Given the description of an element on the screen output the (x, y) to click on. 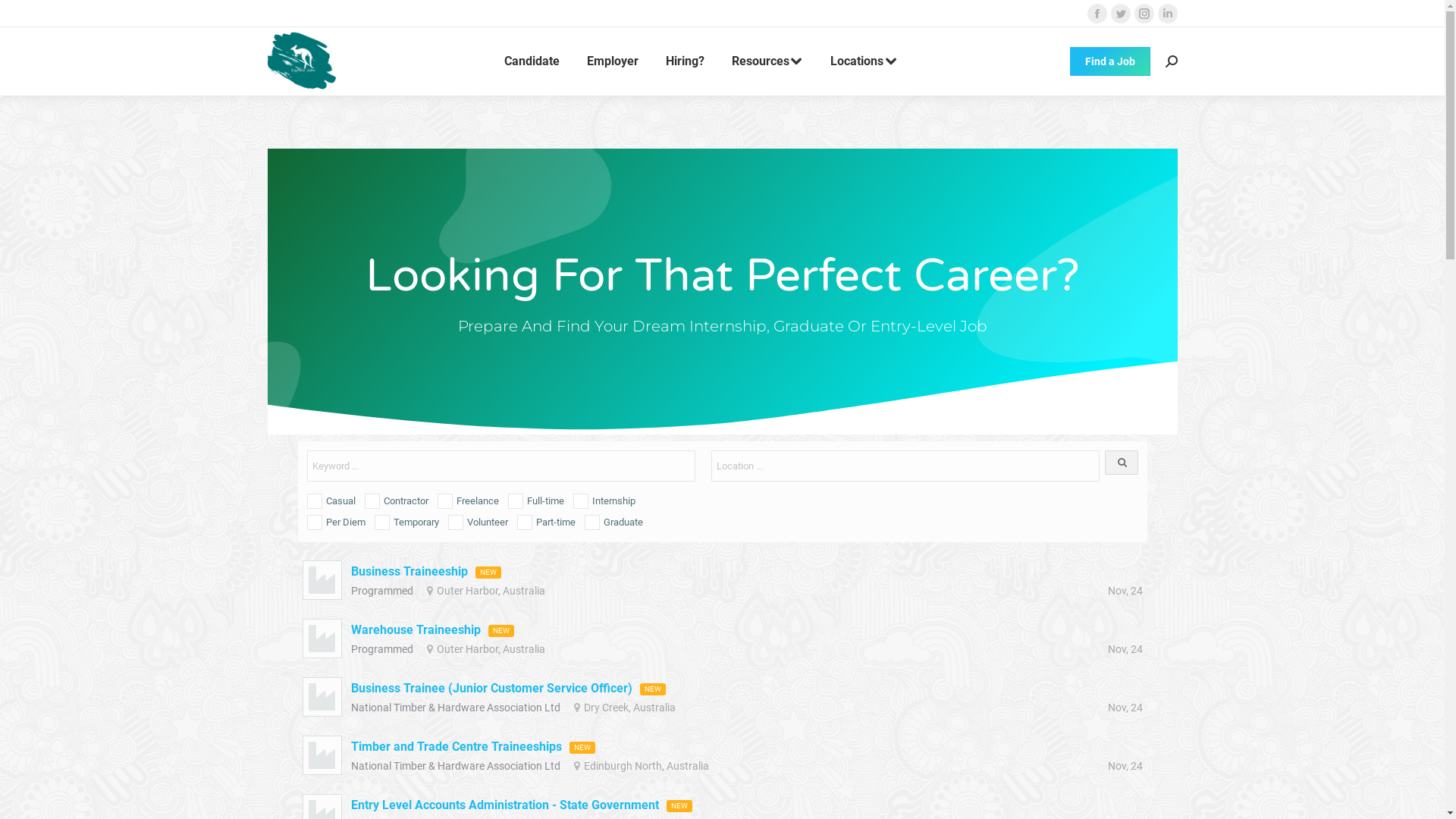
Warehouse Traineeship Element type: text (415, 629)
Locations Element type: text (863, 60)
Go! Element type: text (23, 16)
Filter Results Element type: hover (1120, 462)
Facebook page opens in new window Element type: hover (1097, 13)
Instagram page opens in new window Element type: hover (1144, 13)
Employer Element type: text (612, 60)
Candidate Element type: text (530, 60)
Timber and Trade Centre Traineeships Element type: text (455, 746)
Find a Job Element type: text (1109, 61)
Linkedin page opens in new window Element type: hover (1166, 13)
Hiring? Element type: text (684, 60)
Resources Element type: text (767, 60)
Entry Level Accounts Administration - State Government Element type: text (504, 804)
Twitter page opens in new window Element type: hover (1119, 13)
Business Traineeship Element type: text (408, 571)
Business Trainee (Junior Customer Service Officer) Element type: text (490, 688)
